Given the description of an element on the screen output the (x, y) to click on. 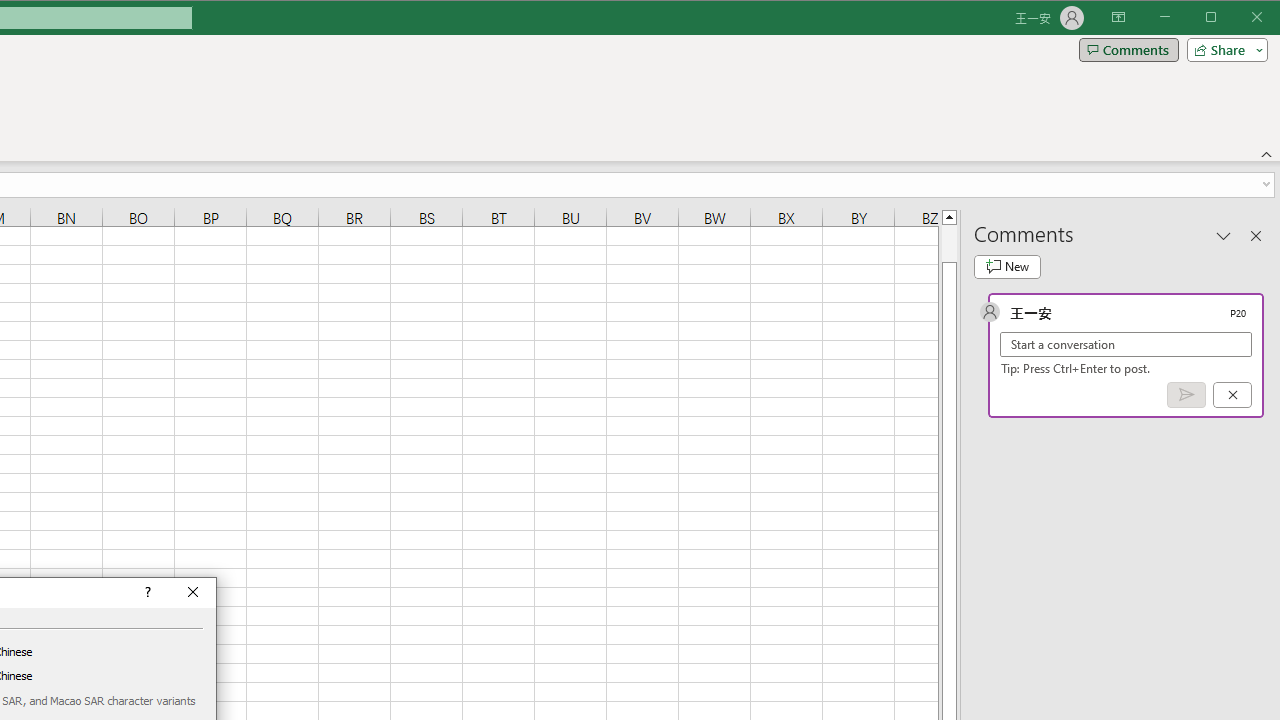
New comment (1007, 266)
Context help (146, 592)
Post comment (Ctrl + Enter) (1186, 395)
Start a conversation (1126, 344)
Maximize (1239, 18)
Cancel (1232, 395)
